Given the description of an element on the screen output the (x, y) to click on. 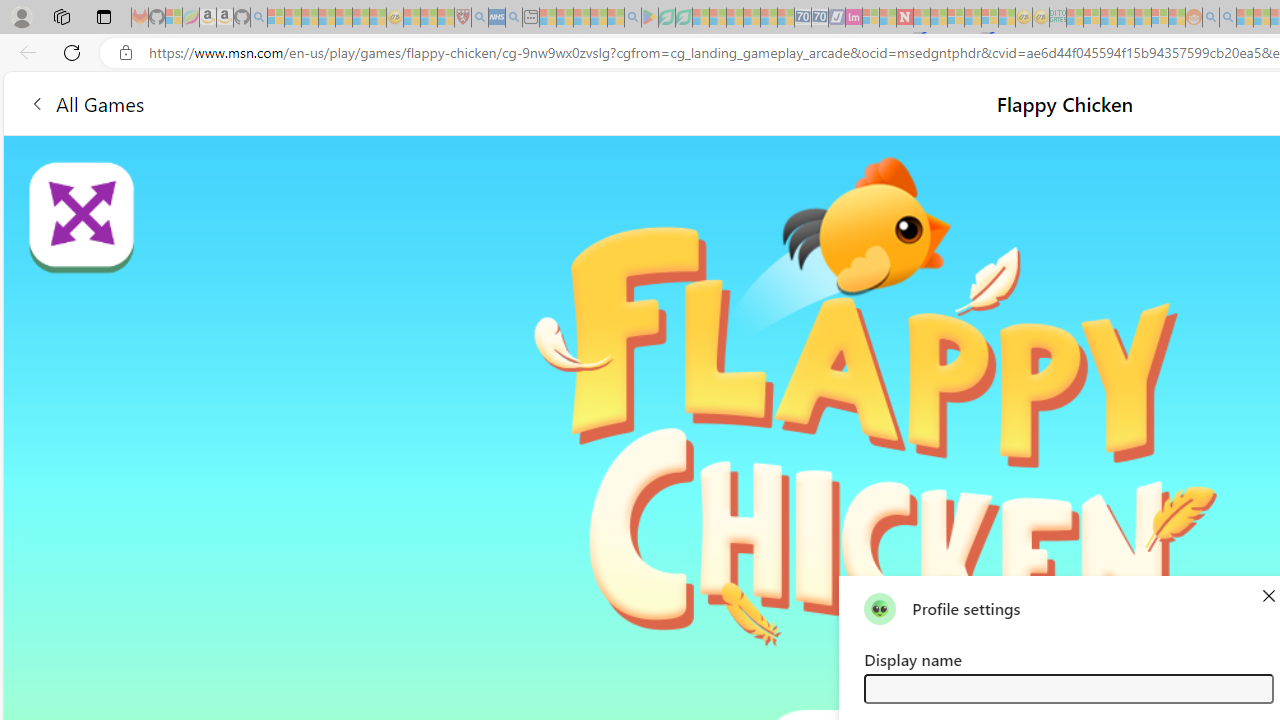
""'s avatar (880, 608)
Pets - MSN - Sleeping (598, 17)
utah sues federal government - Search - Sleeping (513, 17)
